Given the description of an element on the screen output the (x, y) to click on. 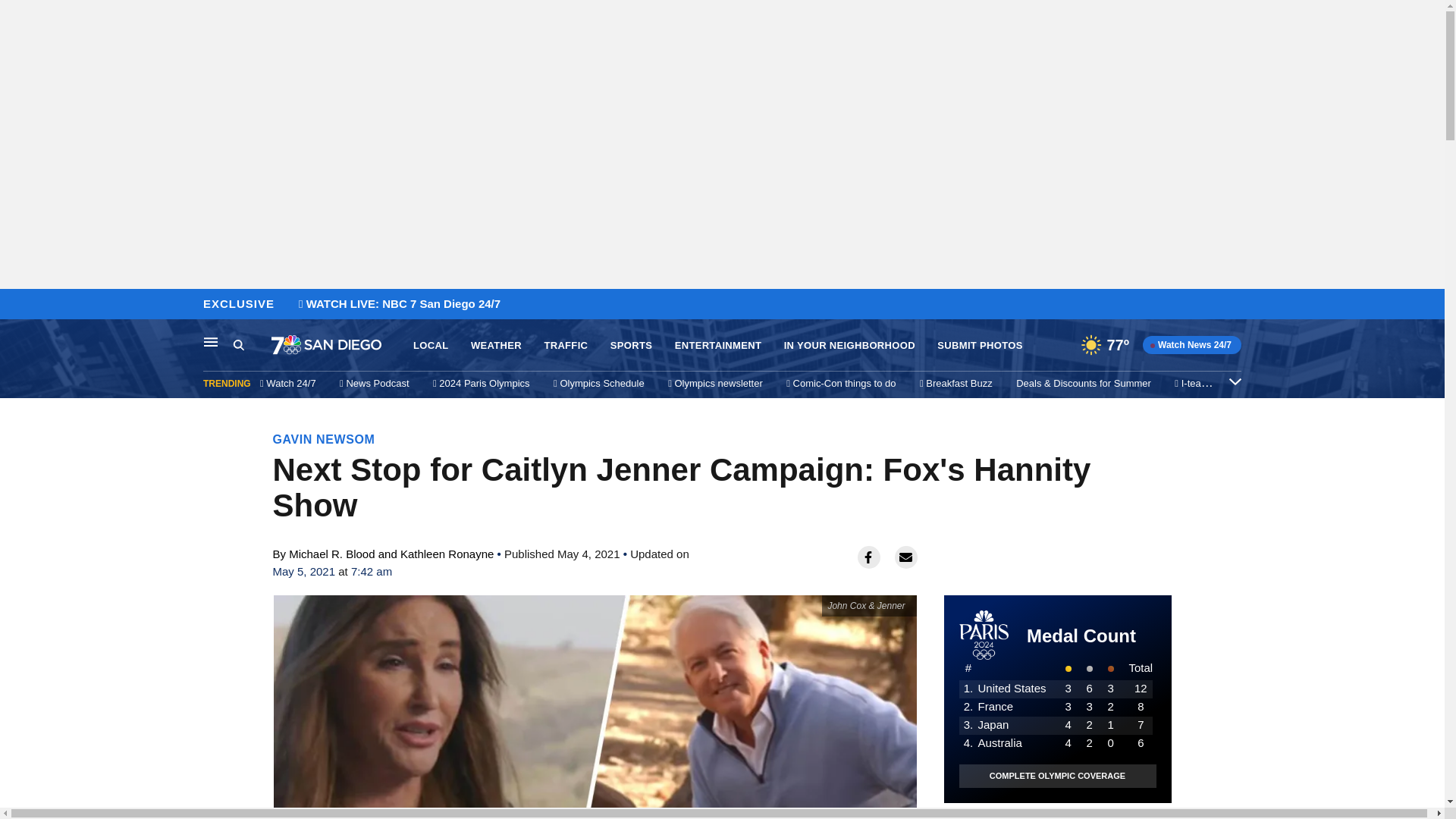
SUBMIT PHOTOS (979, 345)
GAVIN NEWSOM (324, 439)
Search (252, 345)
SPORTS (631, 345)
Main Navigation (210, 341)
TRAFFIC (565, 345)
LOCAL (430, 345)
IN YOUR NEIGHBORHOOD (849, 345)
Skip to content (16, 304)
WEATHER (495, 345)
Expand (1234, 381)
Search (238, 344)
ENTERTAINMENT (718, 345)
